Given the description of an element on the screen output the (x, y) to click on. 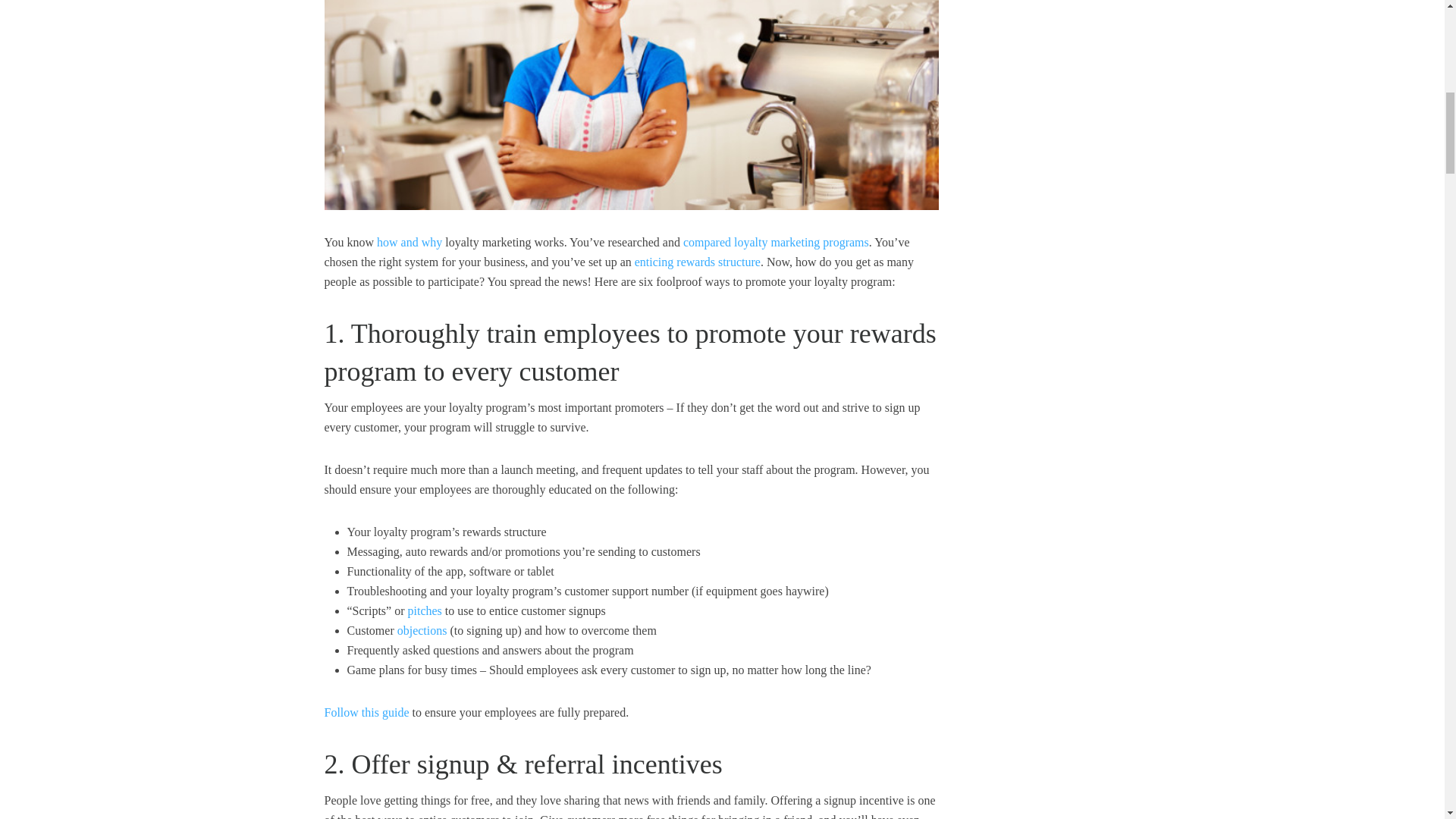
how and why (409, 241)
